Given the description of an element on the screen output the (x, y) to click on. 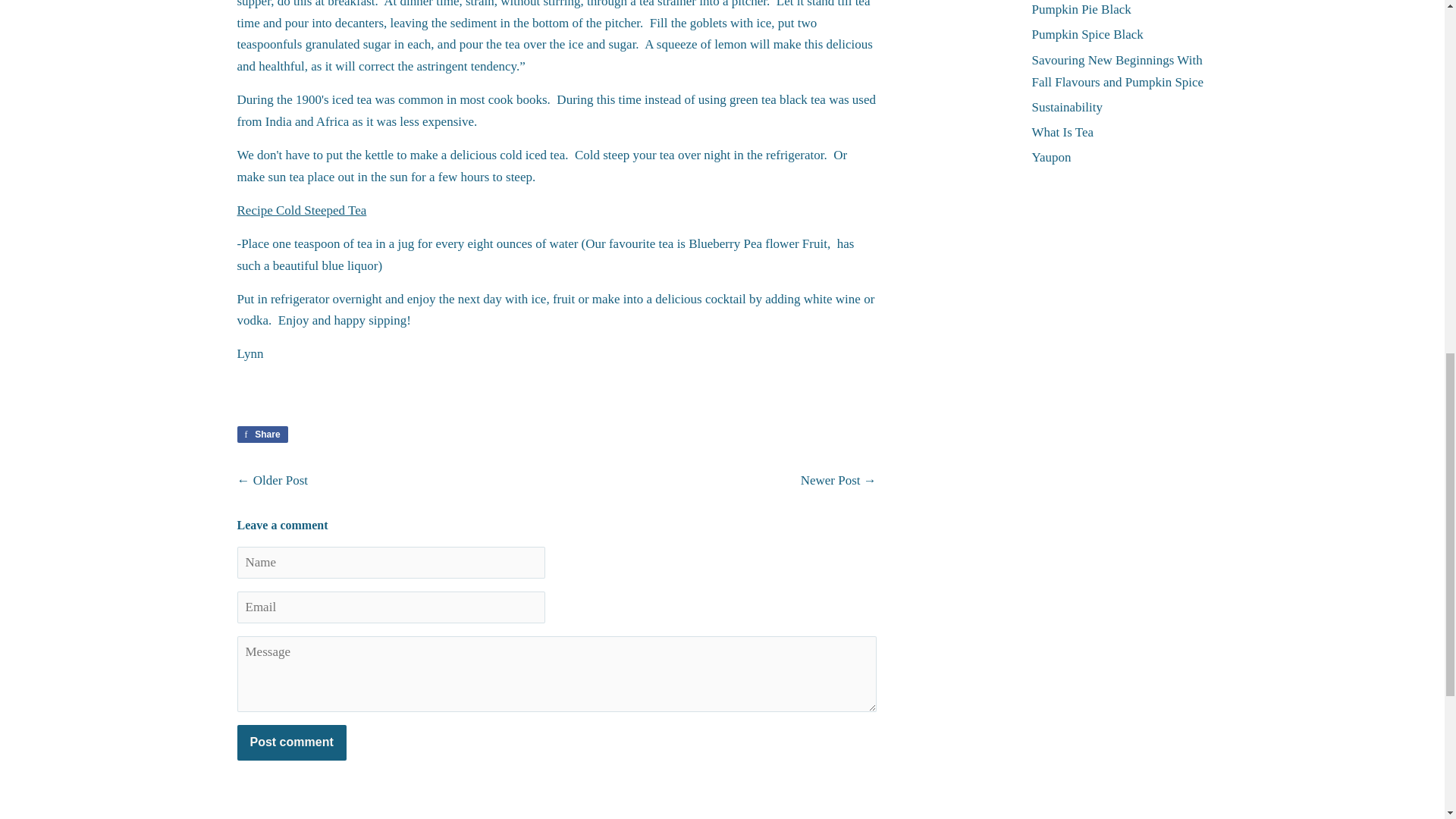
Pumpkin Spice Black (260, 434)
Show articles tagged What Is Tea (1086, 34)
Share on Facebook (1061, 132)
What Is Tea (260, 434)
Show articles tagged Pumpkin Pie Black (1061, 132)
Newer Post (1080, 9)
Older Post (830, 480)
Pumpkin Pie Black (280, 480)
